Given the description of an element on the screen output the (x, y) to click on. 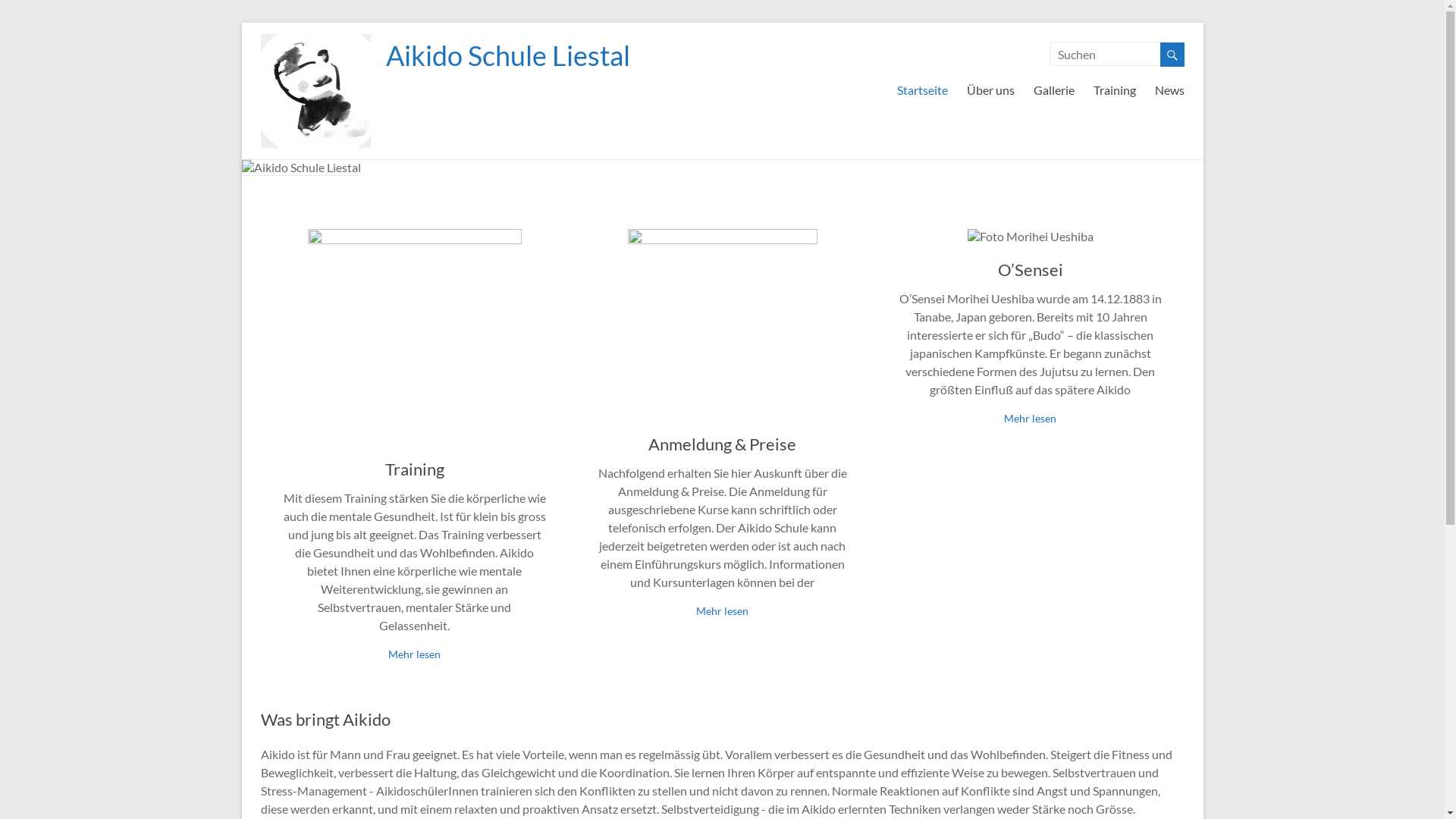
Training Element type: text (414, 468)
News Element type: text (1168, 86)
Startseite Element type: text (921, 86)
Mehr lesen Element type: text (722, 610)
Training Element type: text (1114, 86)
Was bringt Aikido Element type: text (325, 719)
Mehr lesen Element type: text (1030, 417)
Gallerie Element type: text (1052, 86)
Mehr lesen Element type: text (414, 653)
Aikido Schule Liestal Element type: text (507, 55)
Anmeldung & Preise Element type: text (722, 443)
